Given the description of an element on the screen output the (x, y) to click on. 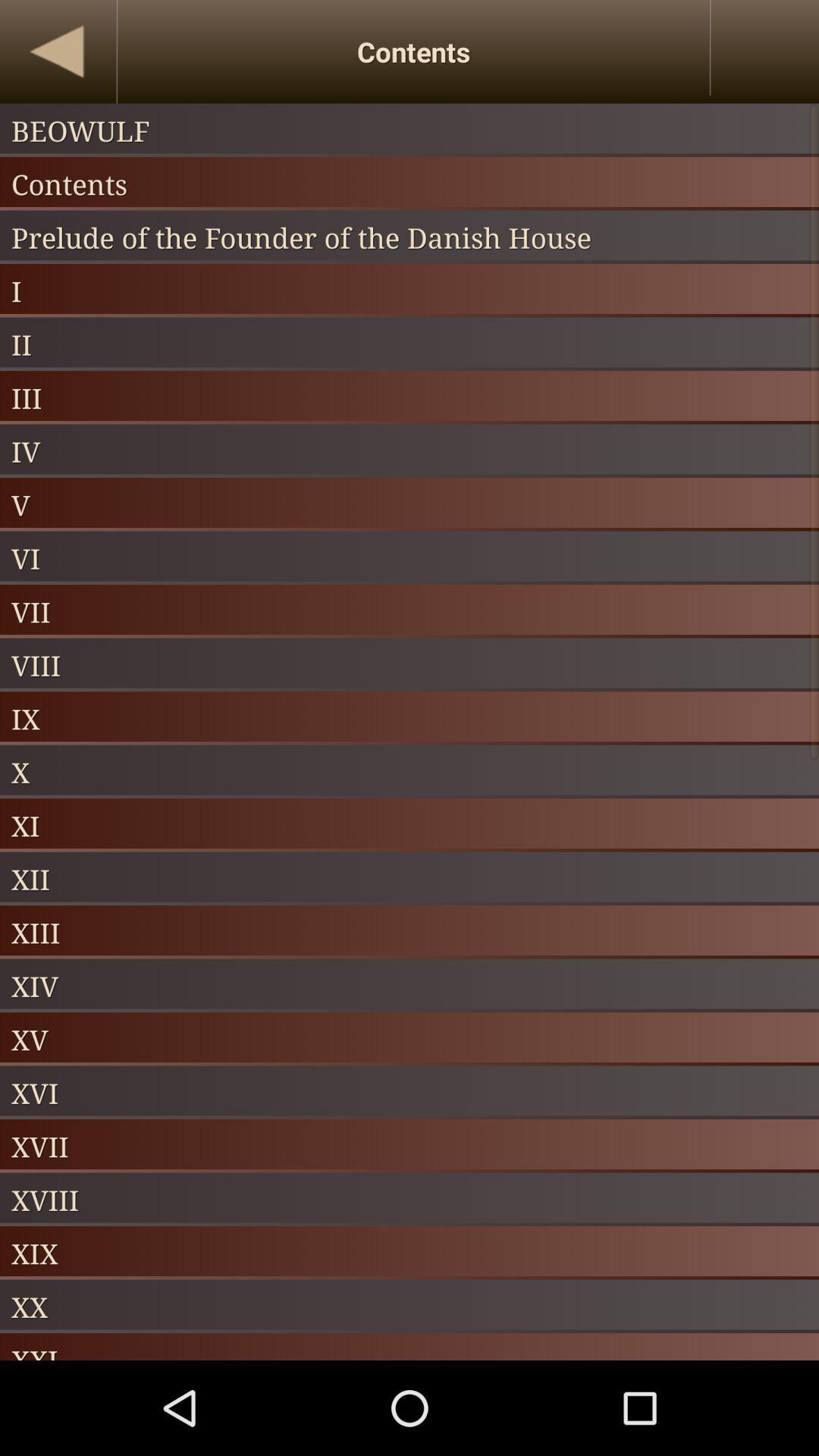
choose iii item (409, 397)
